Given the description of an element on the screen output the (x, y) to click on. 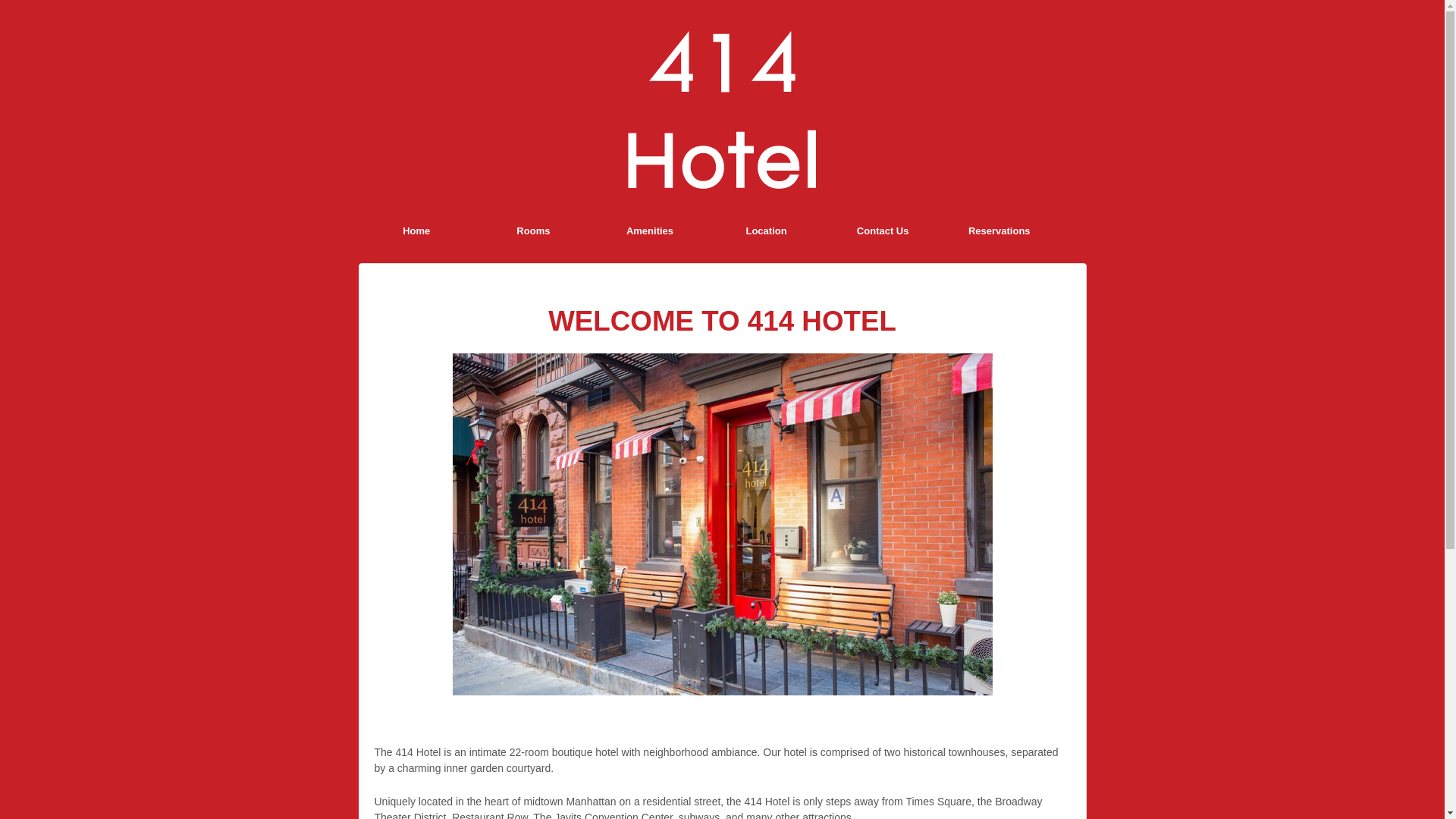
Amenities Element type: text (649, 230)
Contact Us Element type: text (882, 230)
Reservations Element type: text (998, 230)
Rooms Element type: text (532, 230)
Location Element type: text (765, 230)
Home Element type: text (415, 230)
